Given the description of an element on the screen output the (x, y) to click on. 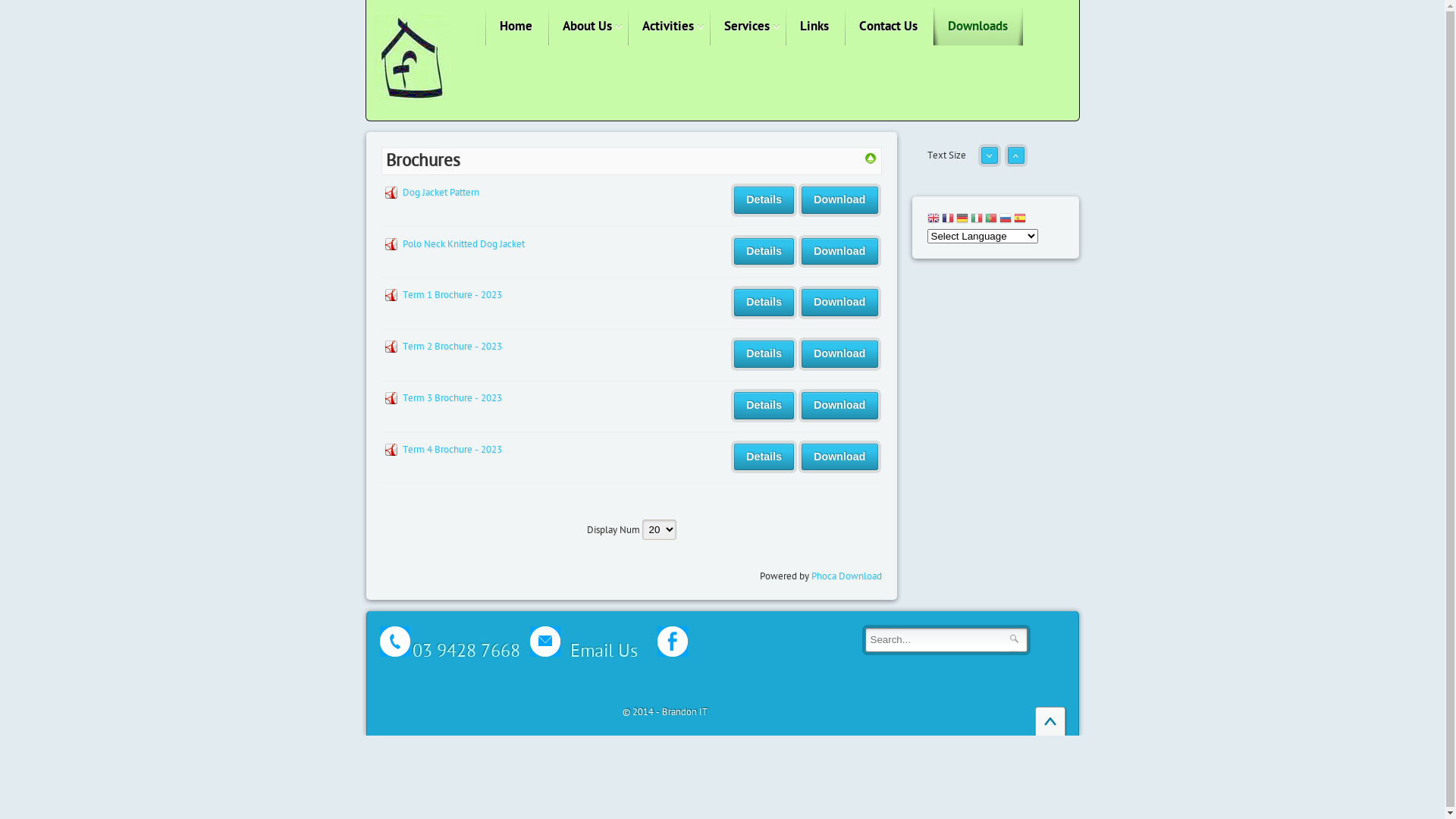
Details Element type: text (763, 302)
Term 4 Brochure - 2023 Element type: text (451, 449)
Download Element type: text (839, 199)
Increase Text Size Element type: hover (1015, 161)
Activities Element type: text (668, 26)
Dog Jacket Pattern Element type: text (439, 192)
Download Element type: text (839, 405)
03 9428 7668 Element type: text (466, 650)
Download Element type: text (839, 456)
Downloads Element type: text (976, 26)
Home Element type: text (514, 26)
Decrease Text Size Element type: hover (989, 161)
French Element type: hover (947, 219)
Contact Us Element type: text (888, 26)
Russian Element type: hover (1005, 219)
Term 1 Brochure - 2023 Element type: text (451, 294)
Links Element type: text (814, 26)
Details Element type: text (763, 456)
Download Element type: text (839, 302)
Email Us Element type: text (578, 644)
Services Element type: text (746, 26)
Term 3 Brochure - 2023 Element type: text (451, 397)
Details Element type: text (763, 199)
Italian Element type: hover (976, 219)
Term 2 Brochure - 2023 Element type: text (451, 346)
Phoca Download Element type: text (846, 576)
German Element type: hover (961, 219)
Portuguese Element type: hover (990, 219)
Polo Neck Knitted Dog Jacket Element type: text (462, 243)
Spanish Element type: hover (1019, 219)
Details Element type: text (763, 251)
About Us Element type: text (587, 26)
Download Element type: text (839, 353)
English Element type: hover (932, 219)
Details Element type: text (763, 405)
Details Element type: text (763, 353)
Categories Element type: hover (870, 161)
Download Element type: text (839, 251)
